Given the description of an element on the screen output the (x, y) to click on. 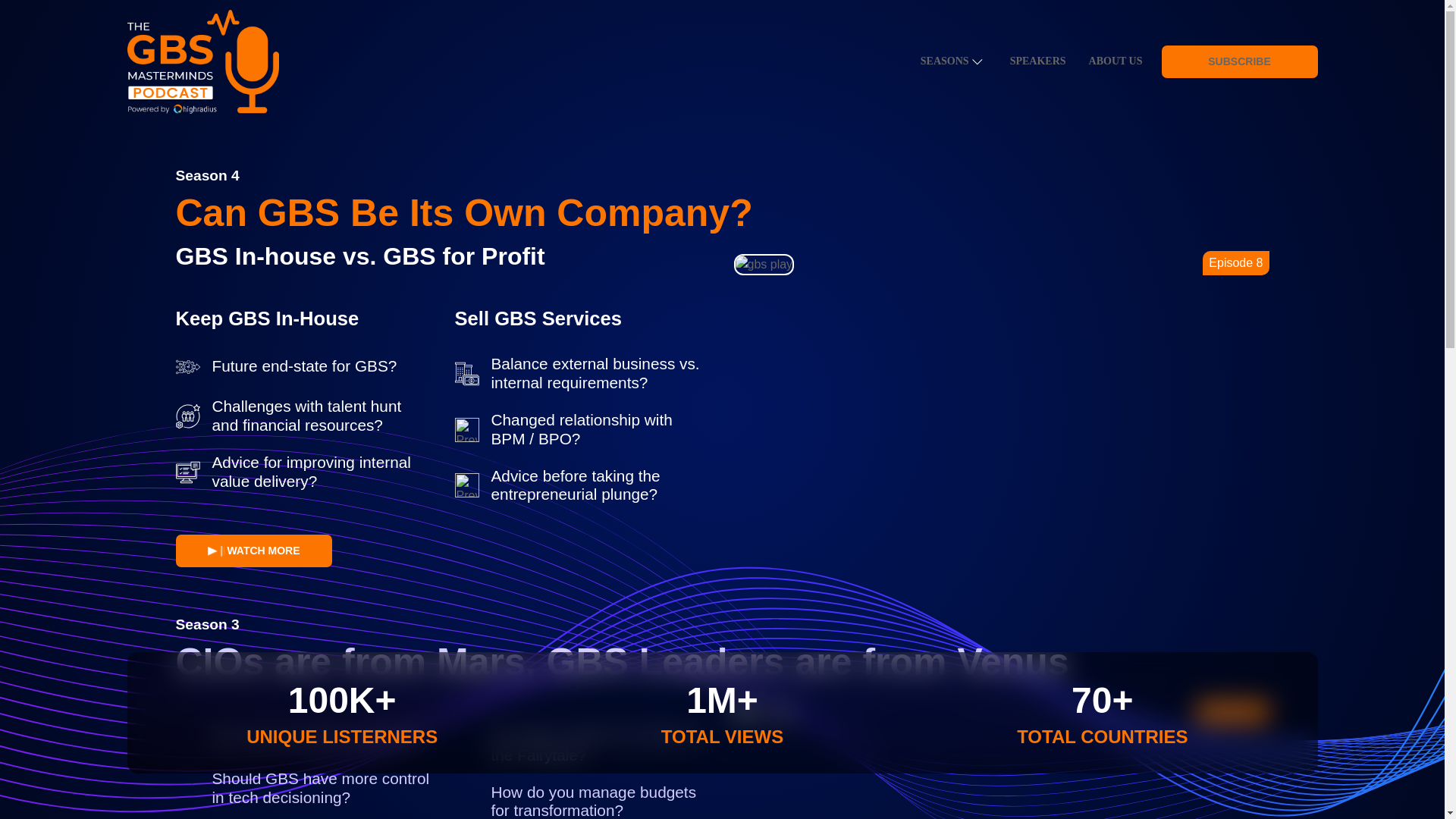
ABOUT US (1115, 61)
SEASONS (943, 61)
SUBSCRIBE (1239, 61)
SPEAKERS (1037, 61)
WATCH MORE (253, 550)
